Given the description of an element on the screen output the (x, y) to click on. 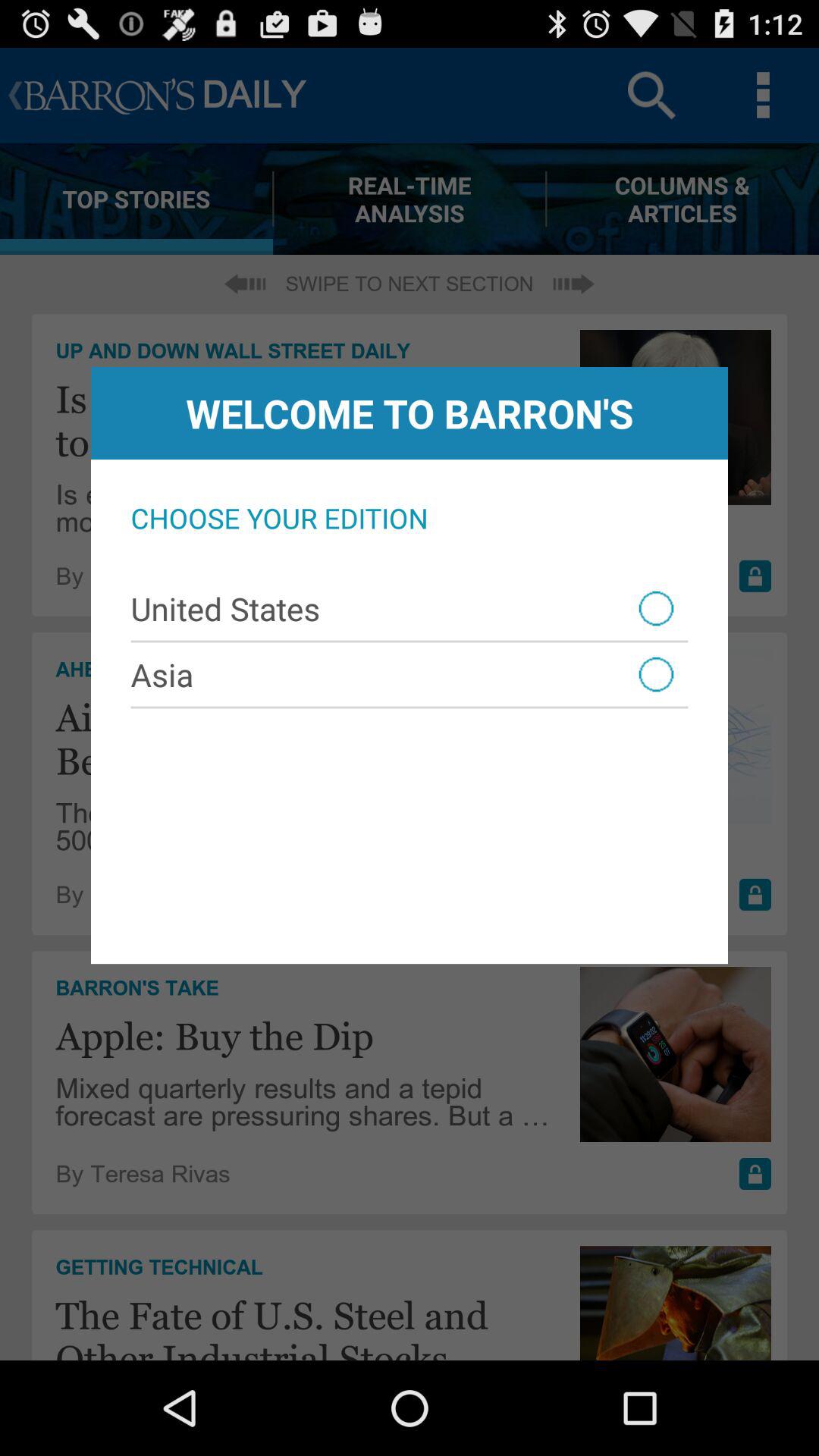
flip until asia icon (409, 674)
